Given the description of an element on the screen output the (x, y) to click on. 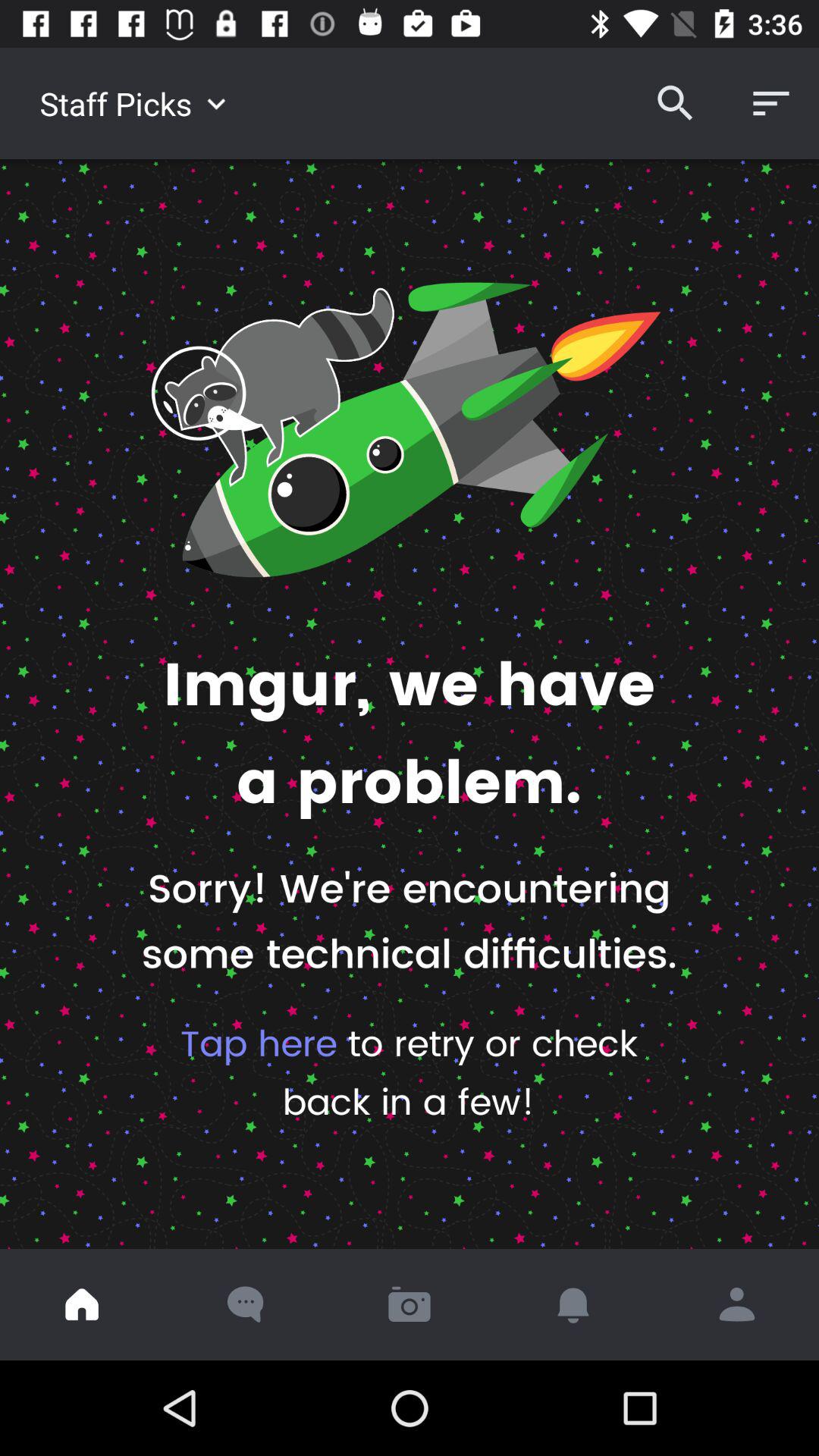
open camera (409, 1304)
